Given the description of an element on the screen output the (x, y) to click on. 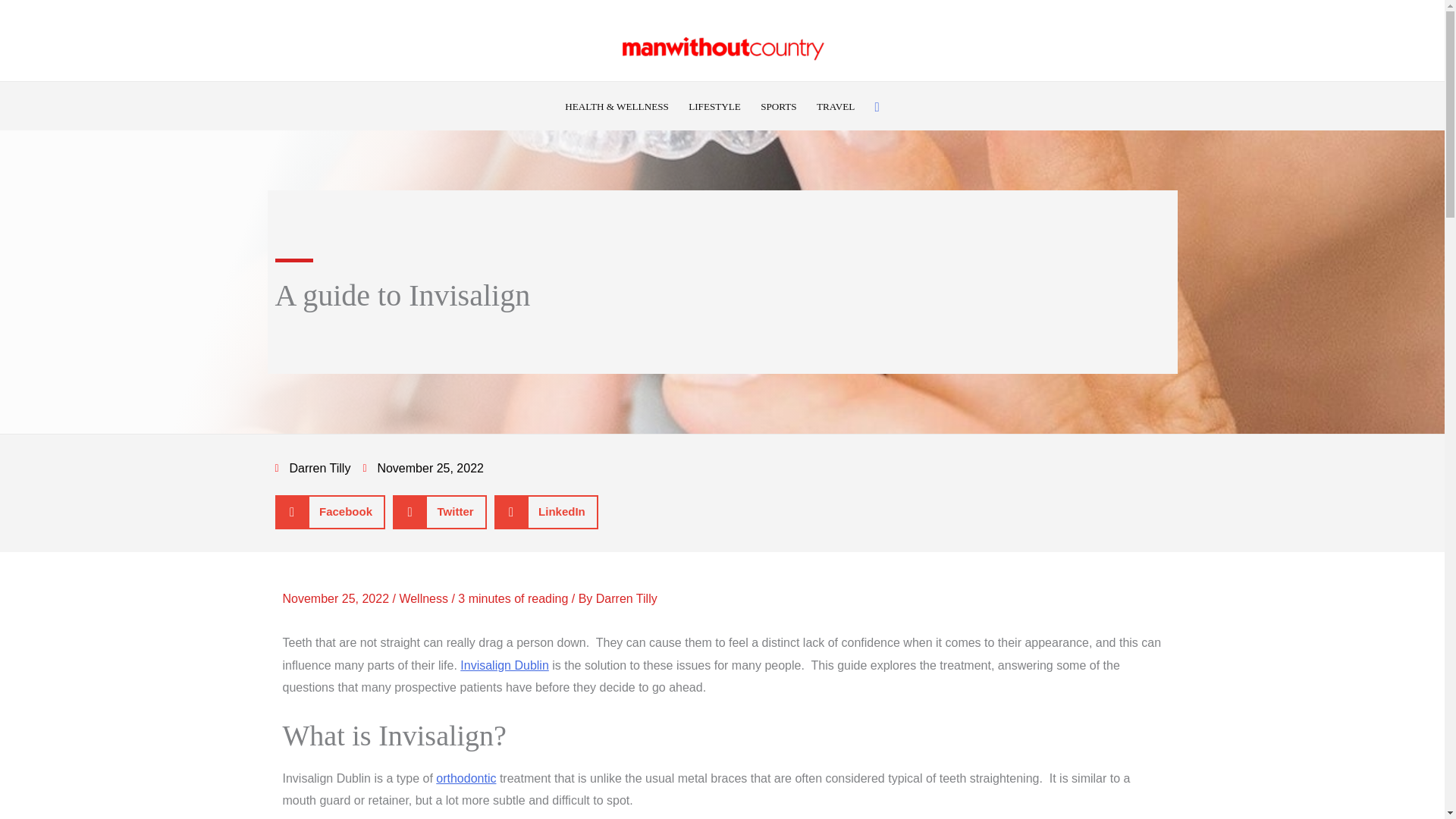
LIFESTYLE (714, 106)
Darren Tilly (626, 598)
orthodontic (465, 778)
View all posts by Darren Tilly (626, 598)
SPORTS (778, 106)
TRAVEL (835, 106)
Darren Tilly (312, 468)
Wellness (423, 598)
November 25, 2022 (422, 468)
Invisalign Dublin (504, 665)
